Given the description of an element on the screen output the (x, y) to click on. 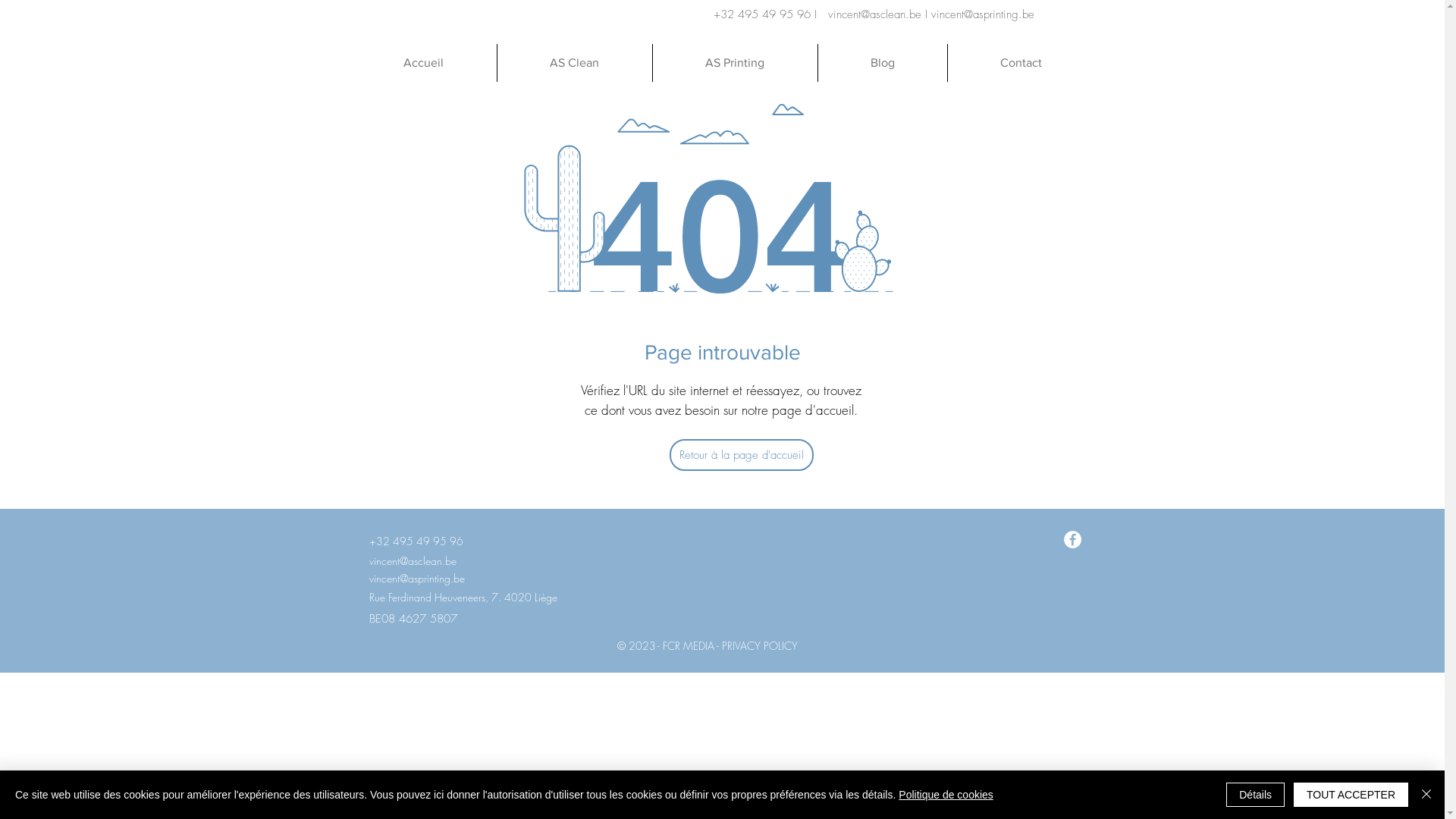
TOUT ACCEPTER Element type: text (1350, 794)
AS Printing Element type: text (734, 62)
AS Clean Element type: text (573, 62)
I vincent@asprinting.be Element type: text (979, 13)
vincent@asclean.be  Element type: text (876, 13)
Blog Element type: text (882, 62)
PRIVACY POLICY Element type: text (759, 645)
Contact Element type: text (1019, 62)
FCR MEDIA Element type: text (688, 645)
Politique de cookies Element type: text (945, 794)
+32 495 49 95 96 Element type: text (415, 540)
+32 495 49 95 96 Element type: text (761, 13)
vincent@asprinting.be Element type: text (416, 578)
vincent@asclean.be Element type: text (411, 559)
Accueil Element type: text (422, 62)
